Given the description of an element on the screen output the (x, y) to click on. 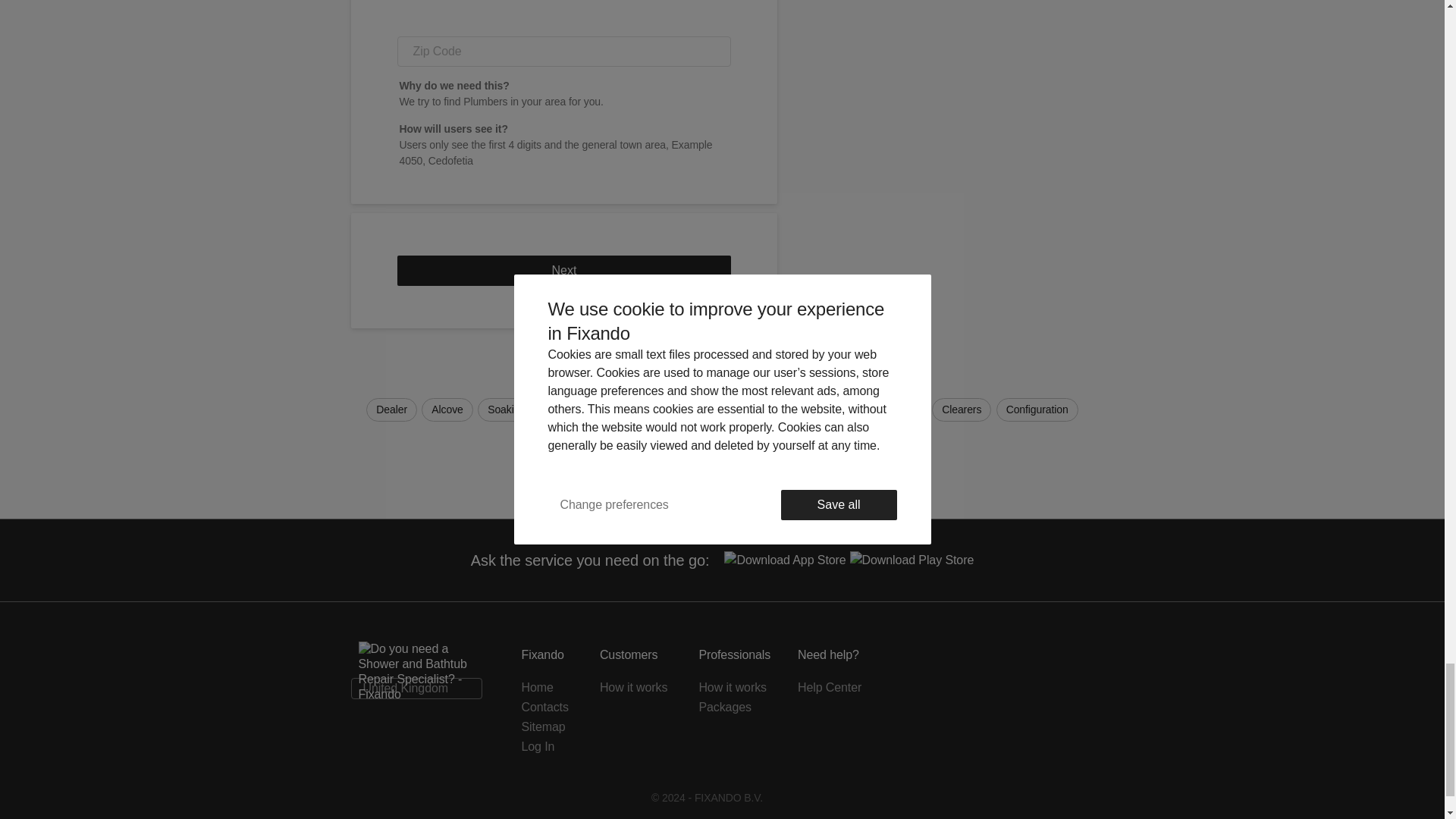
Next (564, 270)
Soaking (506, 409)
United Kingdom (415, 688)
Snaking (836, 409)
Configuration (1036, 409)
Stalls (607, 409)
Stall (559, 409)
Rollers (622, 437)
Hinged (680, 437)
Overflow (664, 409)
